Given the description of an element on the screen output the (x, y) to click on. 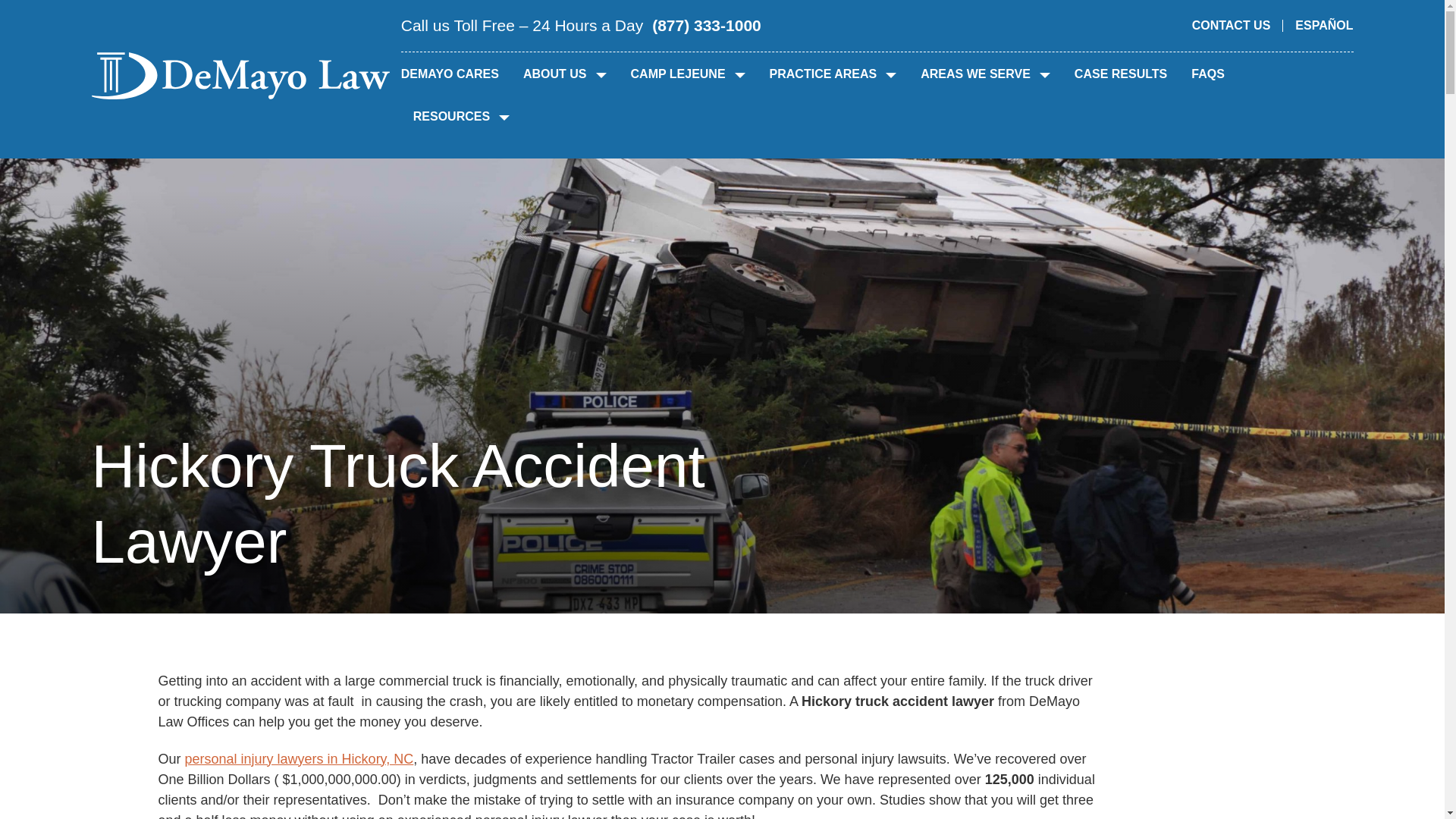
CONTACT US (1231, 24)
CASE RESULTS (1120, 72)
AREAS WE SERVE (984, 72)
RESOURCES (461, 115)
PRACTICE AREAS (833, 72)
DEMAYO CARES (450, 72)
CAMP LEJEUNE (687, 72)
ABOUT US (564, 72)
FAQS (1207, 72)
